Given the description of an element on the screen output the (x, y) to click on. 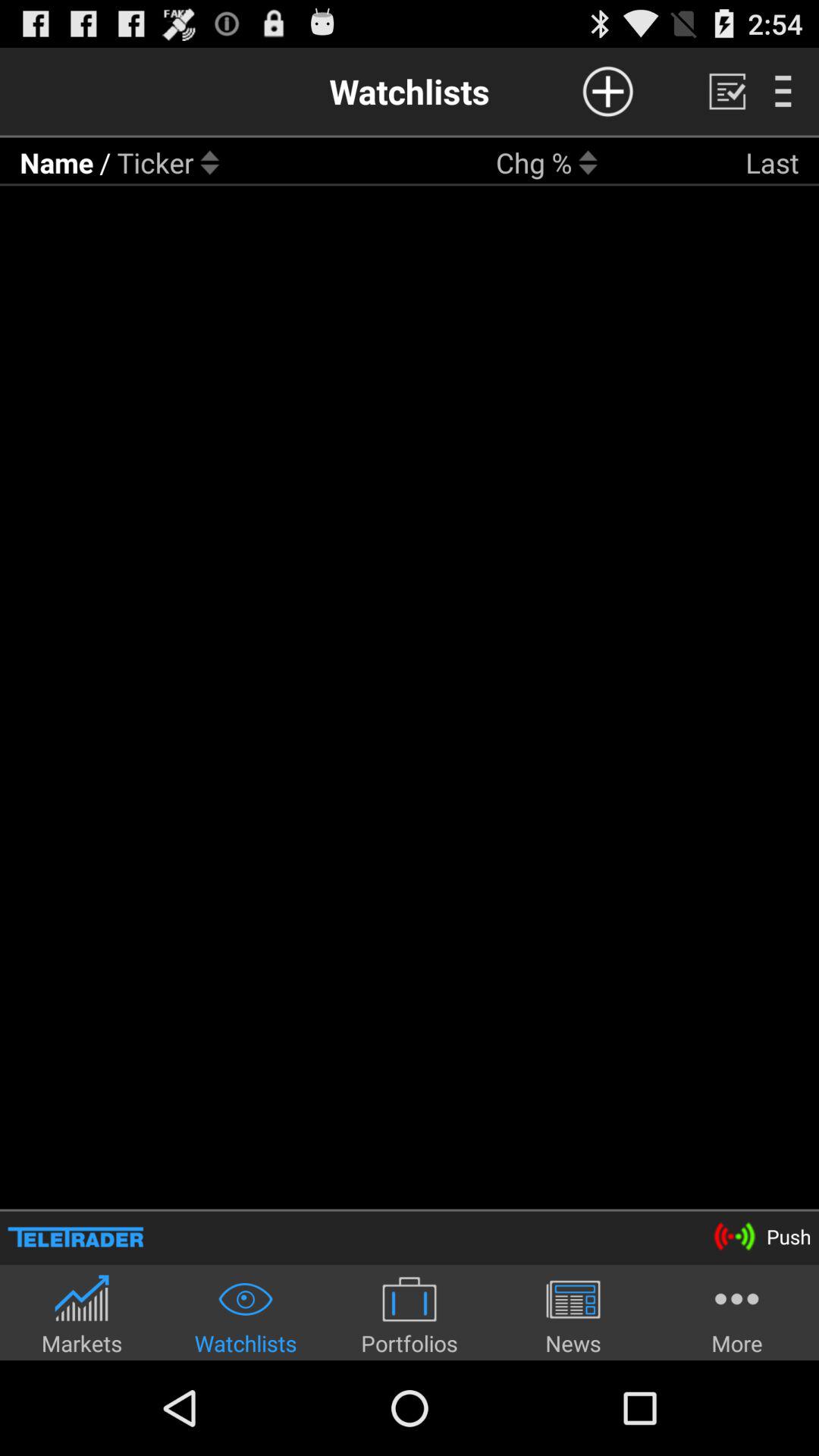
select app above markets app (75, 1236)
